Given the description of an element on the screen output the (x, y) to click on. 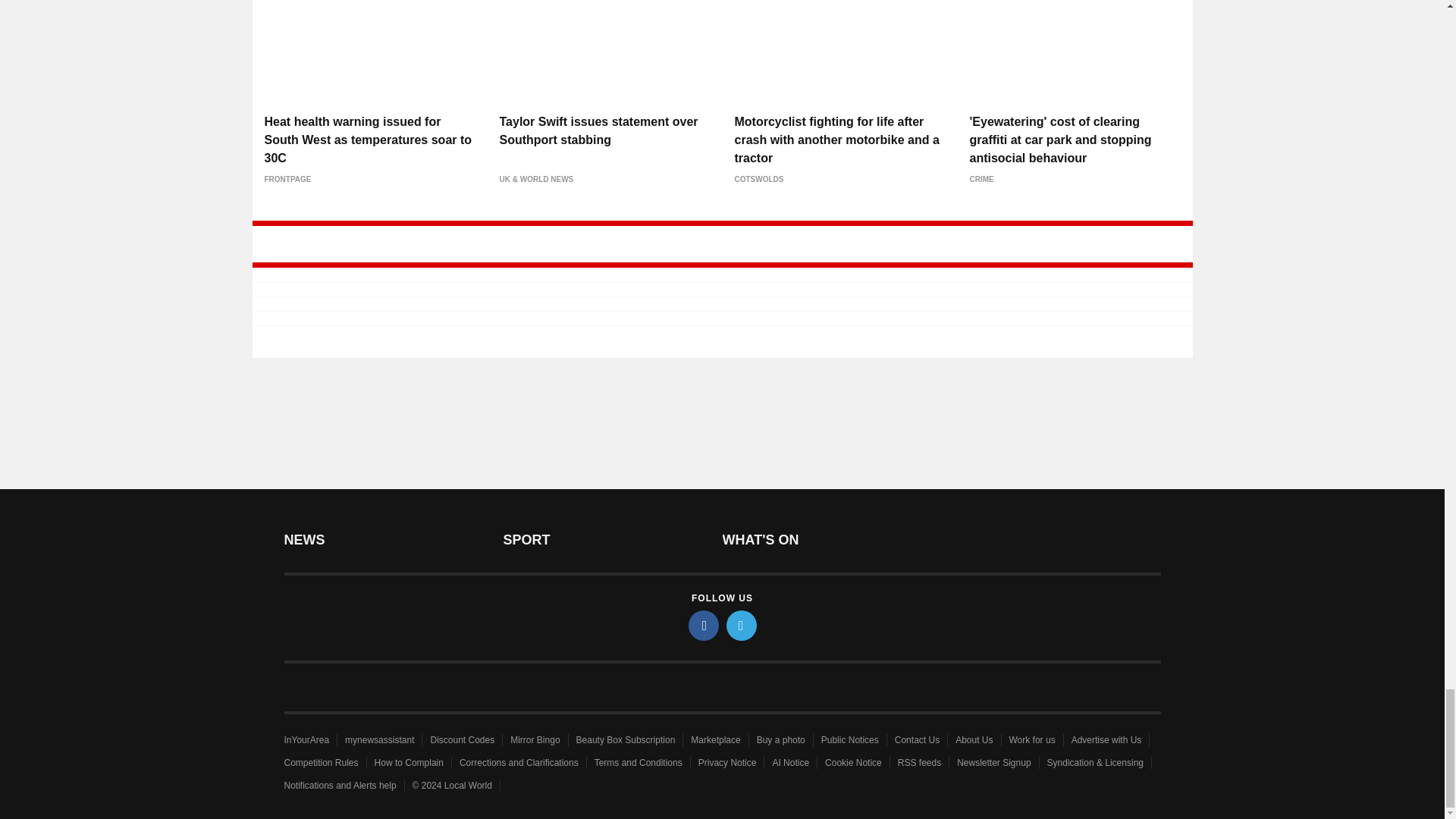
twitter (741, 625)
facebook (703, 625)
